Given the description of an element on the screen output the (x, y) to click on. 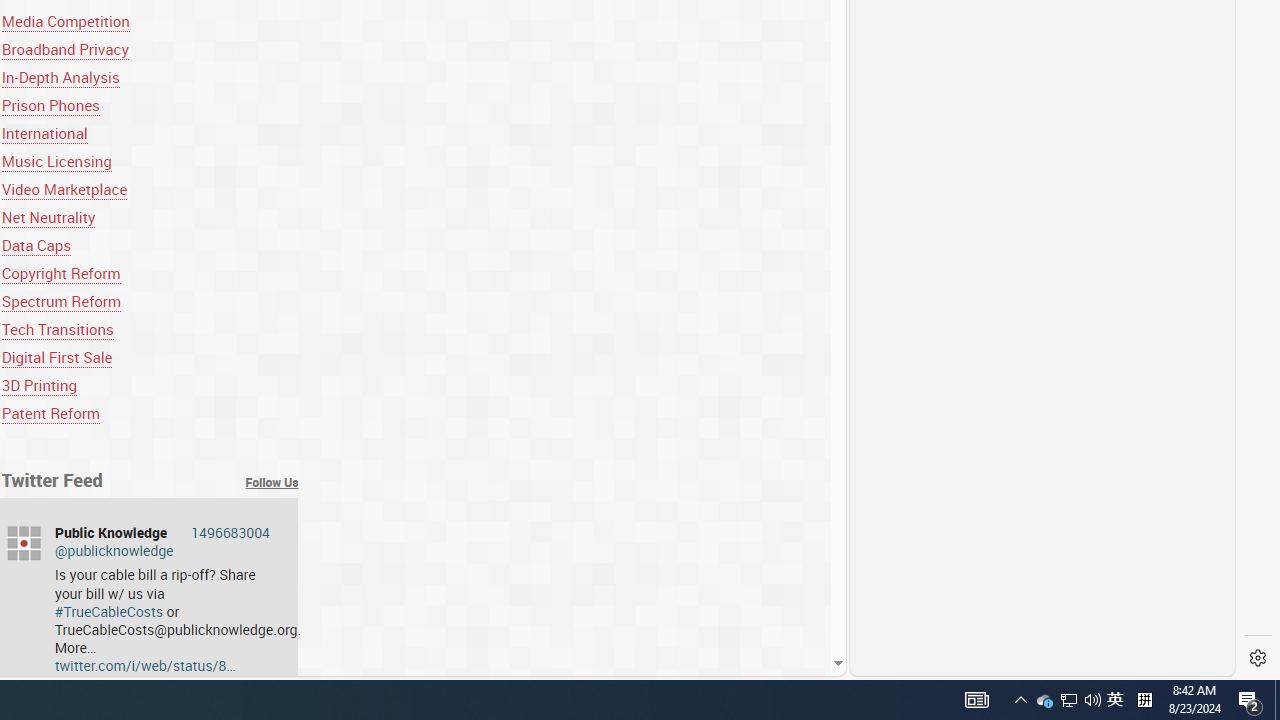
Public Knowledge @publicknowledge (162, 541)
Copyright Reform (61, 272)
International (44, 133)
Spectrum Reform (61, 300)
3D Printing (38, 385)
Digital First Sale (150, 357)
Music Licensing (56, 161)
